Given the description of an element on the screen output the (x, y) to click on. 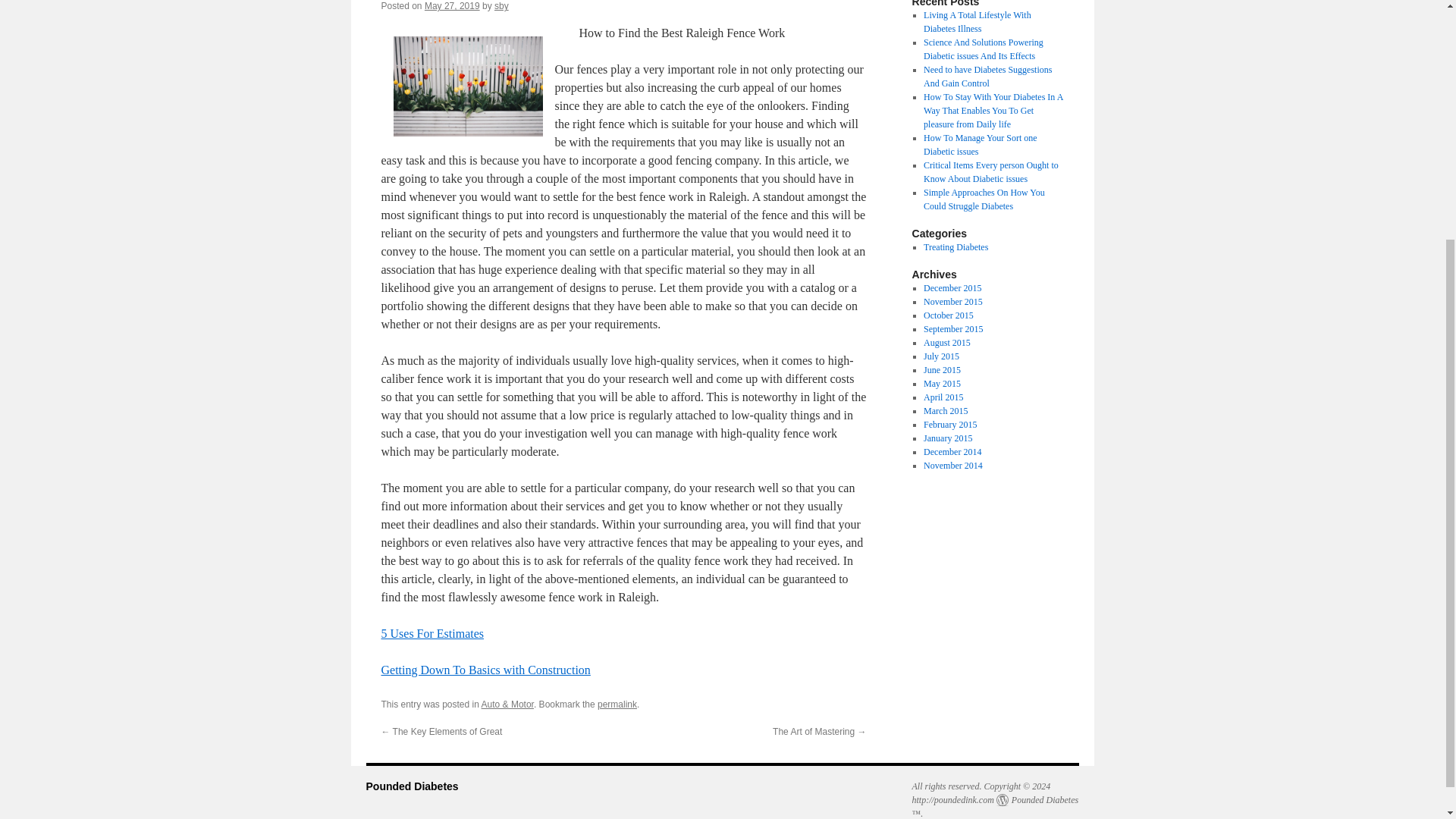
Getting Down To Basics with Construction (484, 669)
Simple Approaches On How You Could Struggle Diabetes (984, 199)
sby (501, 5)
February 2015 (949, 424)
May 27, 2019 (452, 5)
4:36 am (452, 5)
View all posts by sby (501, 5)
June 2015 (941, 369)
May 2015 (941, 383)
September 2015 (952, 328)
